Given the description of an element on the screen output the (x, y) to click on. 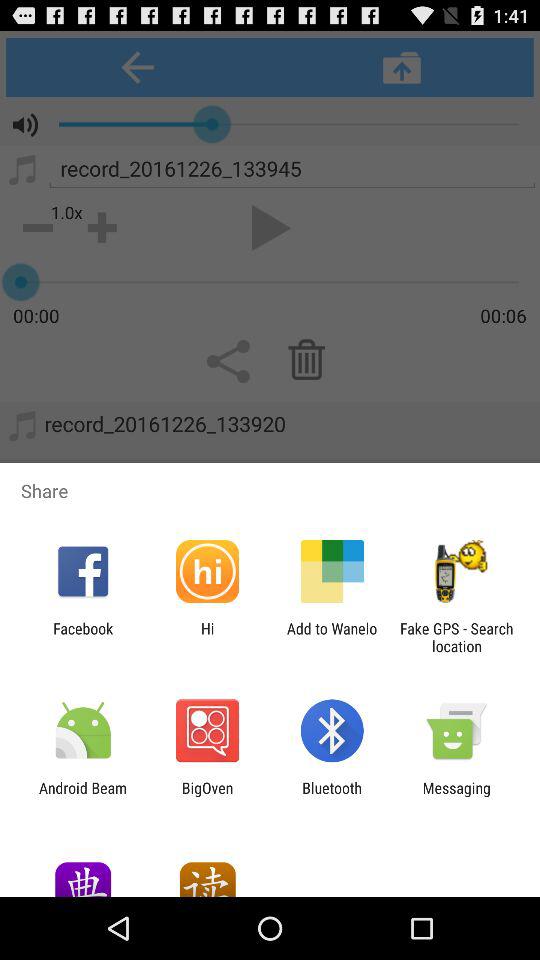
open hi app (207, 637)
